Given the description of an element on the screen output the (x, y) to click on. 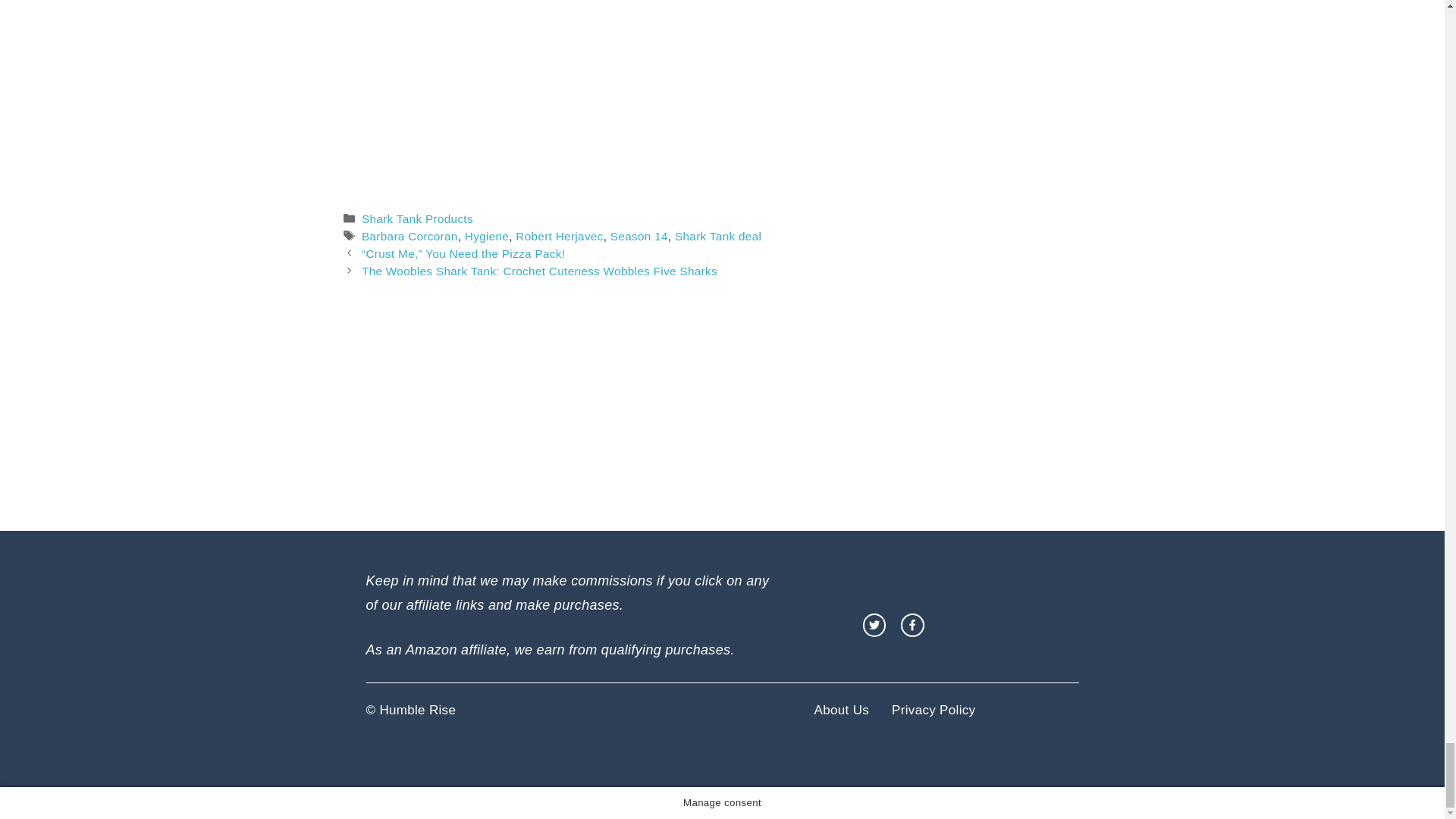
The Woobles Shark Tank: Crochet Cuteness Wobbles Five Sharks (539, 270)
Shark Tank Products (417, 218)
Season 14 (639, 236)
Barbara Corcoran (409, 236)
Robert Herjavec (558, 236)
Shark Tank deal (718, 236)
Hygiene (486, 236)
